Given the description of an element on the screen output the (x, y) to click on. 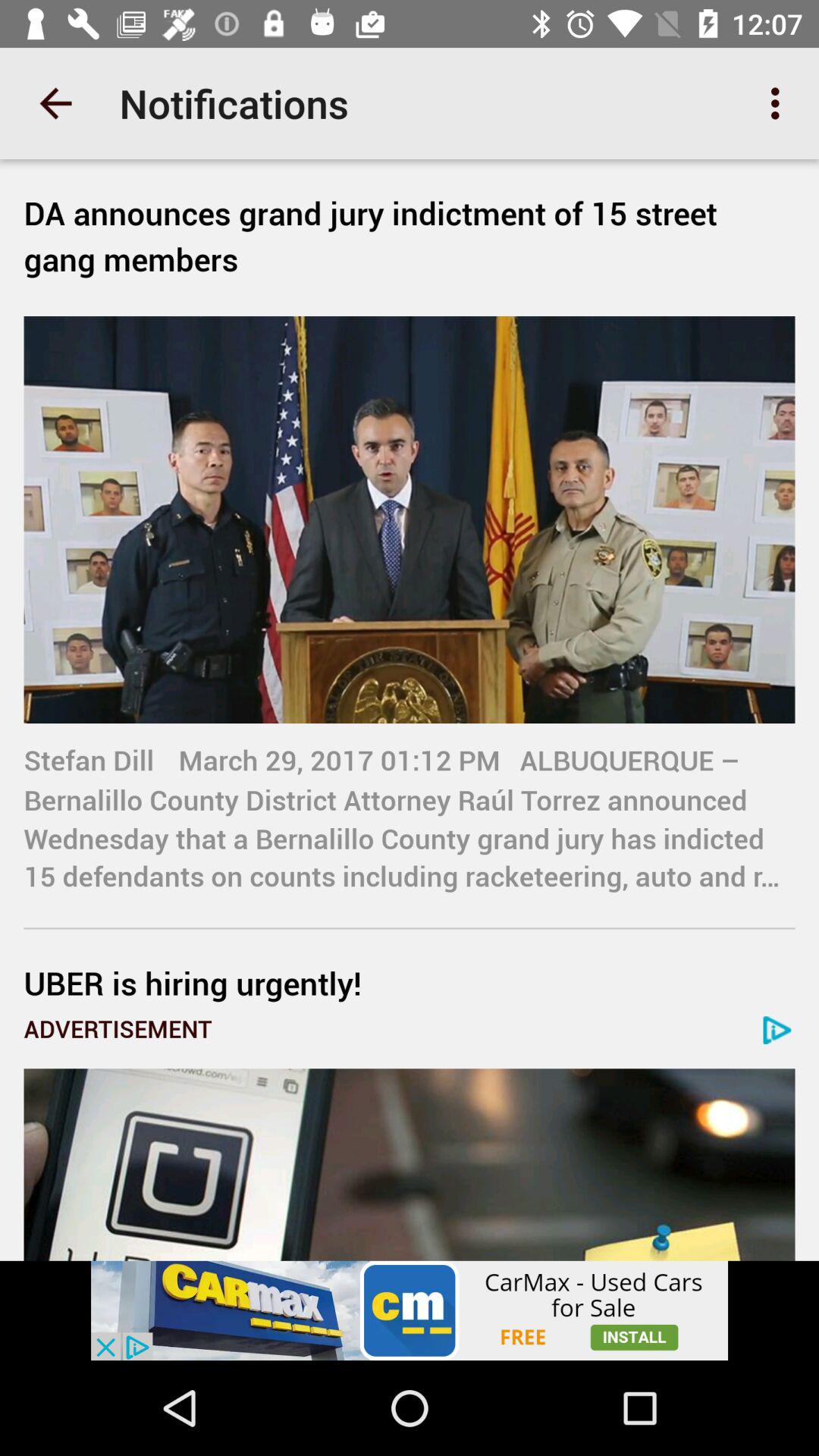
click the app next to notifications item (55, 103)
